Given the description of an element on the screen output the (x, y) to click on. 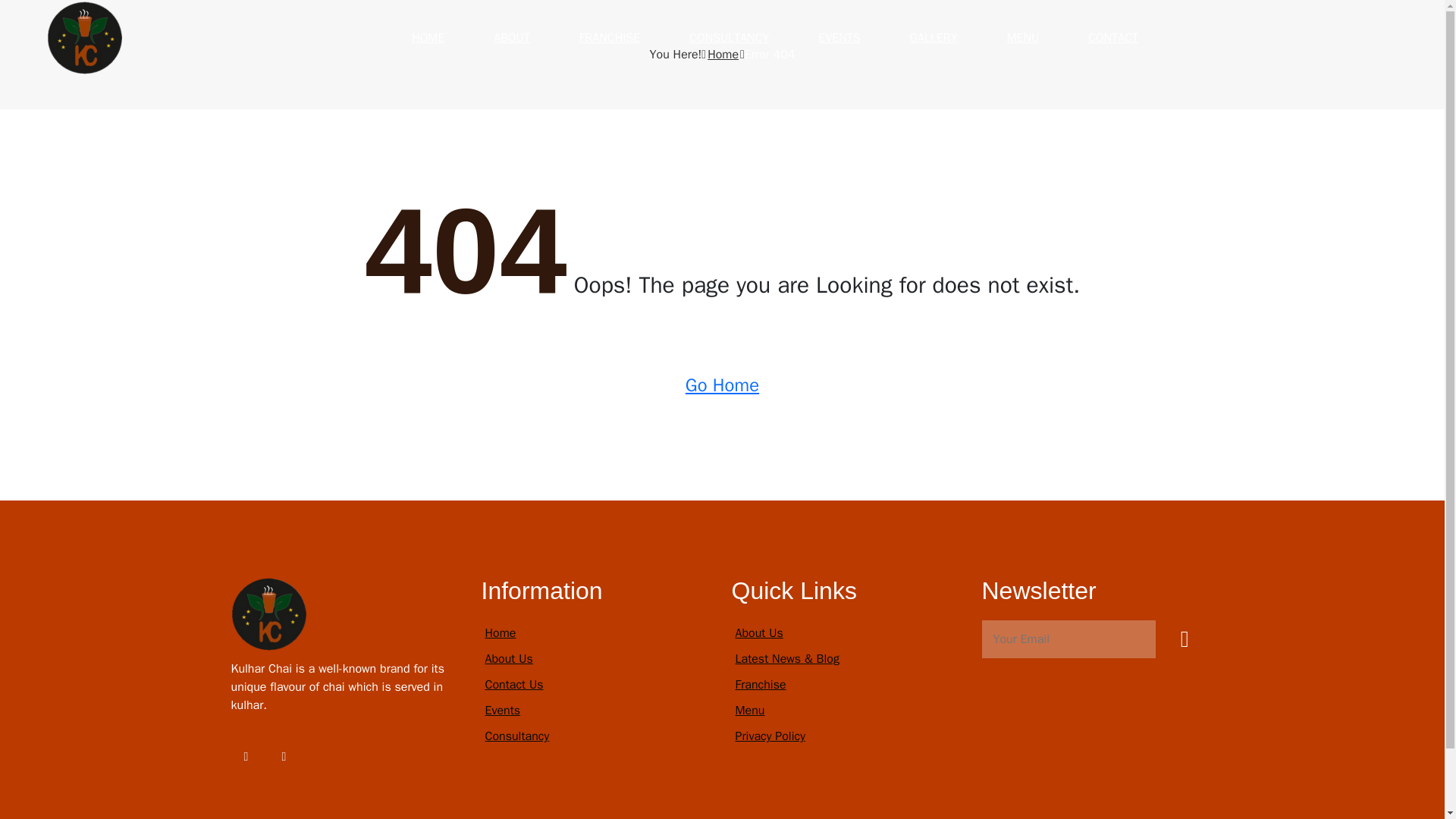
Privacy Policy (770, 735)
Go Home (721, 384)
HOME (428, 37)
CONTACT (1112, 37)
Home (722, 54)
Kulhar Chai (84, 37)
About Us (508, 658)
Subscribe (1185, 638)
GALLERY (932, 37)
Events (502, 710)
